Given the description of an element on the screen output the (x, y) to click on. 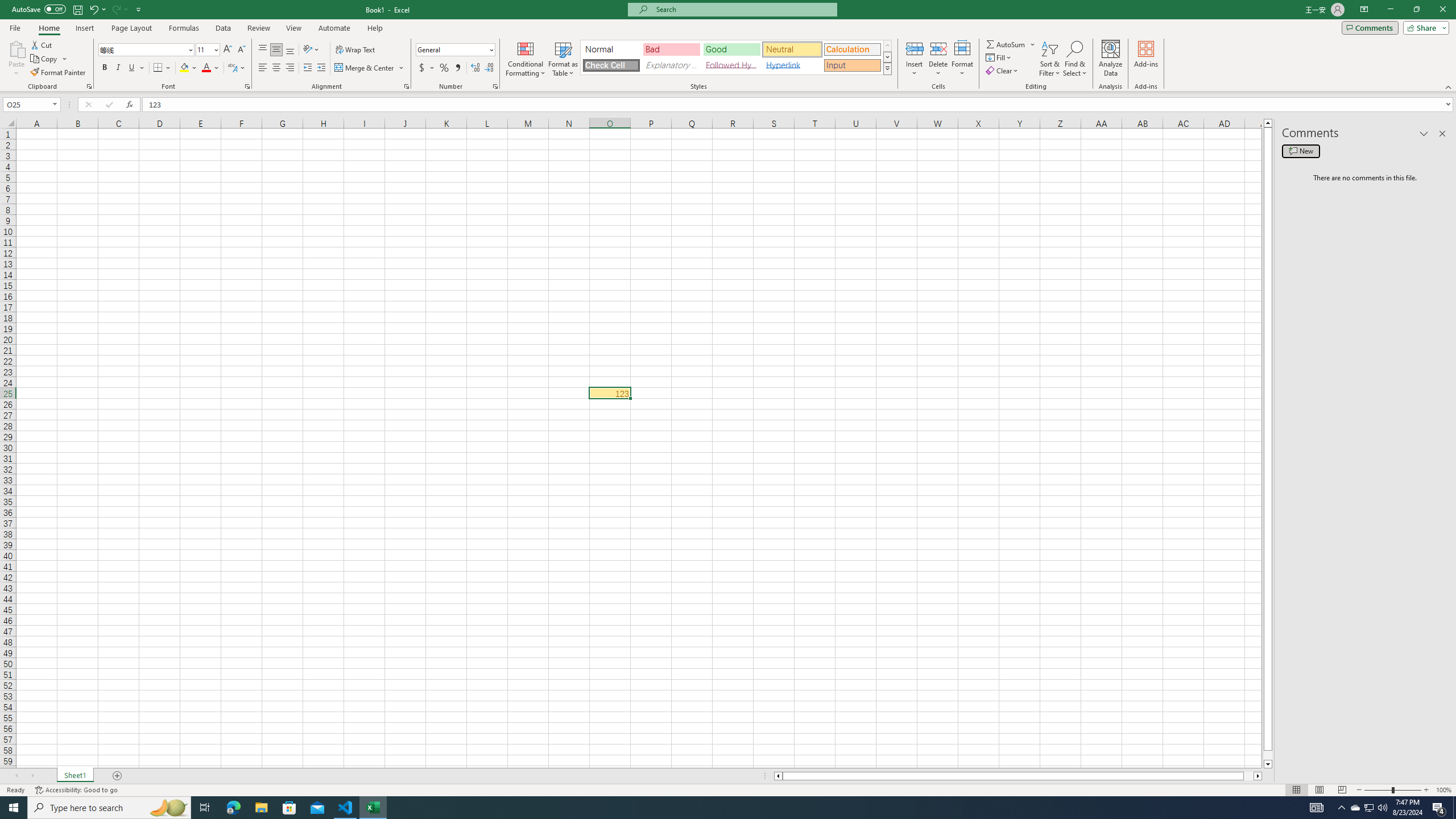
Task Pane Options (1423, 133)
Merge & Center (369, 67)
Page down (1267, 755)
Close pane (1441, 133)
Sheet1 (74, 775)
Paste (16, 48)
Conditional Formatting (525, 58)
Page Layout (1318, 790)
Microsoft search (742, 9)
Save (77, 9)
Center (276, 67)
Input (852, 65)
Insert Cells (914, 48)
Format Cell Alignment (405, 85)
Merge & Center (365, 67)
